Given the description of an element on the screen output the (x, y) to click on. 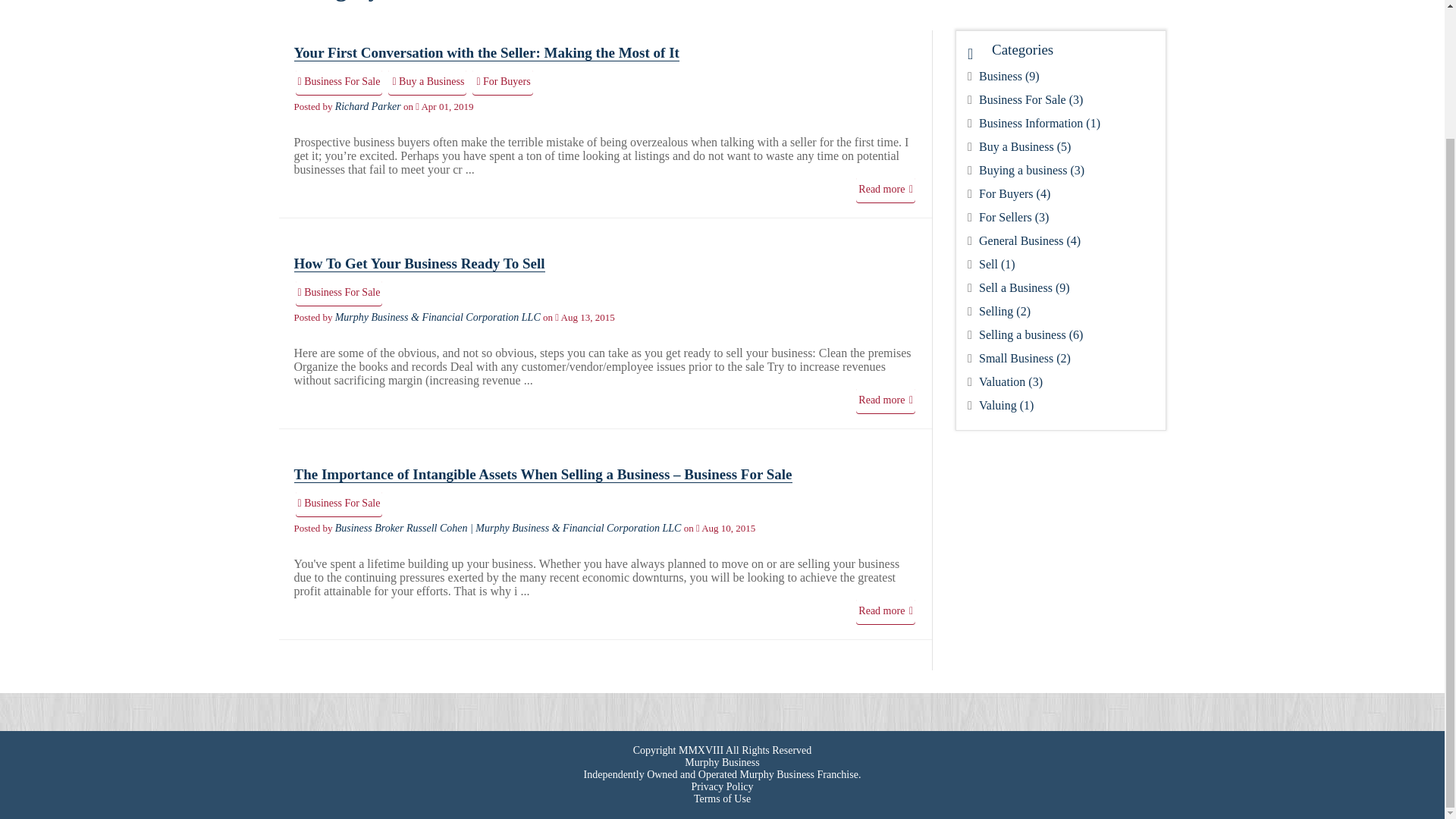
For Buyers (501, 81)
How To Get Your Business Ready To Sell (419, 263)
Buy a Business (426, 81)
Business For Sale (338, 81)
Read more (885, 189)
Read more (885, 611)
Business For Sale (338, 503)
Business For Sale (338, 292)
Read more (885, 400)
